Given the description of an element on the screen output the (x, y) to click on. 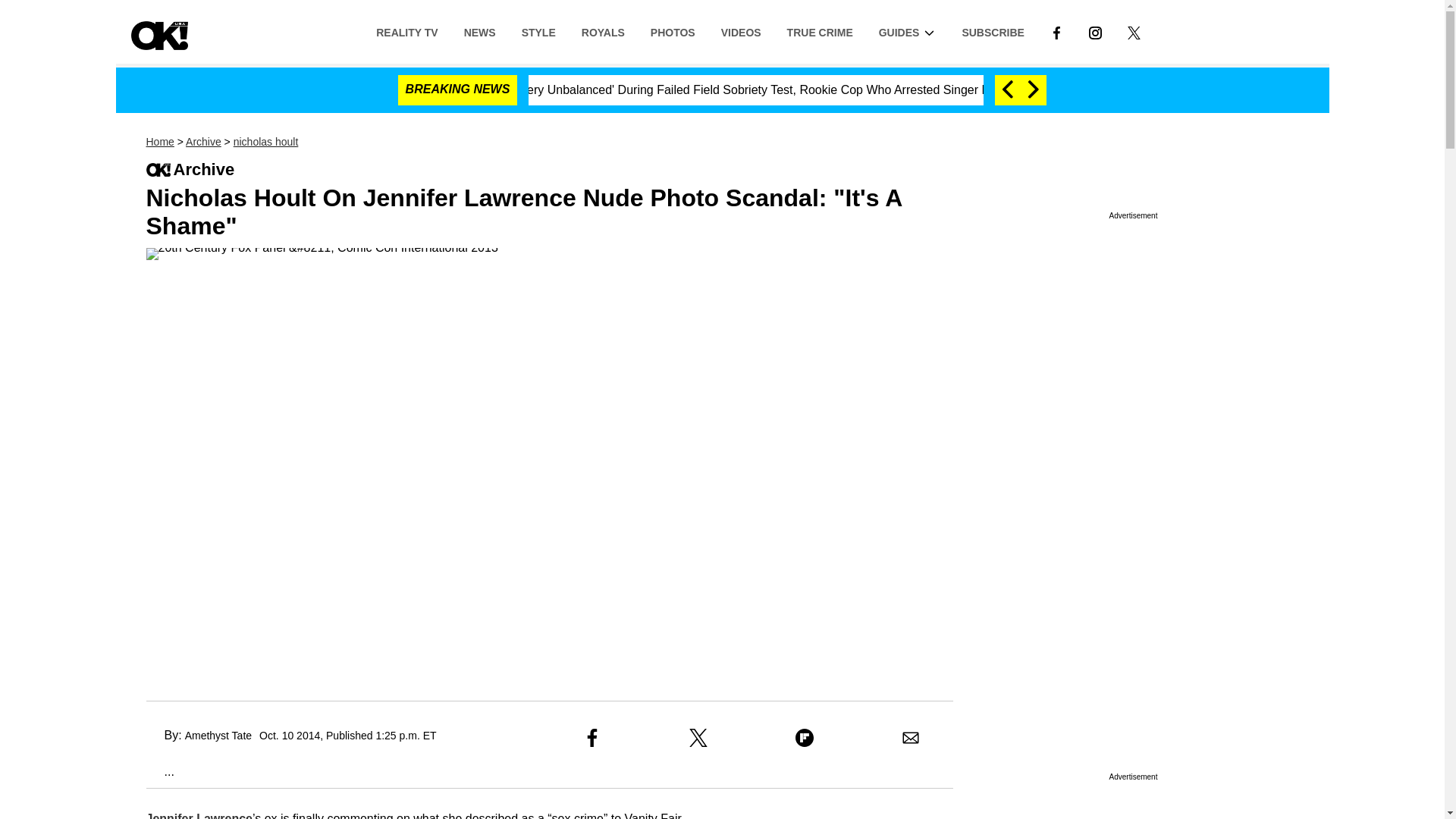
Link to Facebook (1055, 31)
Share to Facebook (590, 737)
LINK TO INSTAGRAM (1095, 32)
Share to Flipboard (803, 737)
Share to X (697, 737)
VIDEOS (740, 31)
Link to Instagram (1095, 31)
LINK TO INSTAGRAM (1095, 31)
STYLE (538, 31)
